Given the description of an element on the screen output the (x, y) to click on. 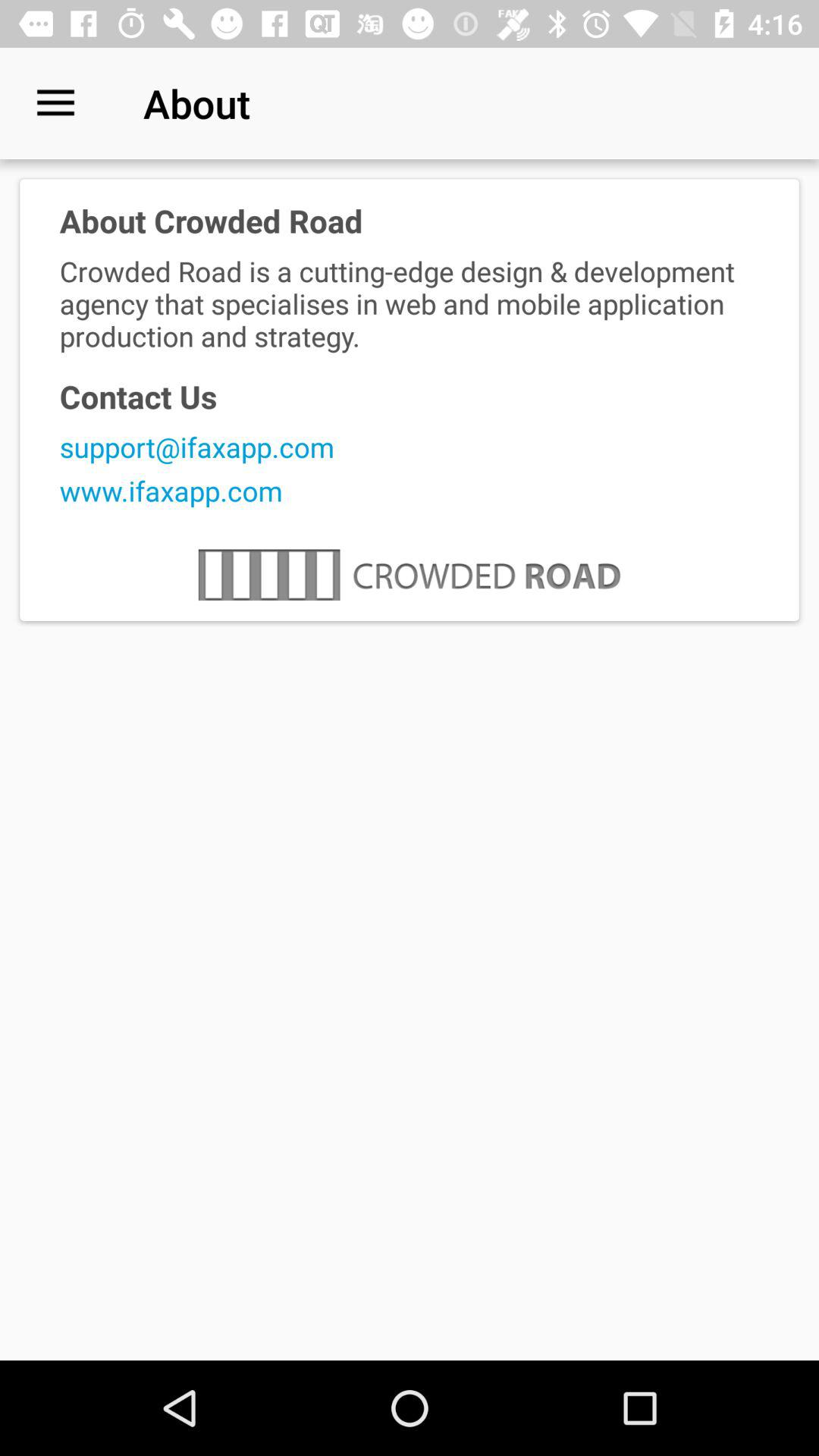
open item next to about item (55, 103)
